Given the description of an element on the screen output the (x, y) to click on. 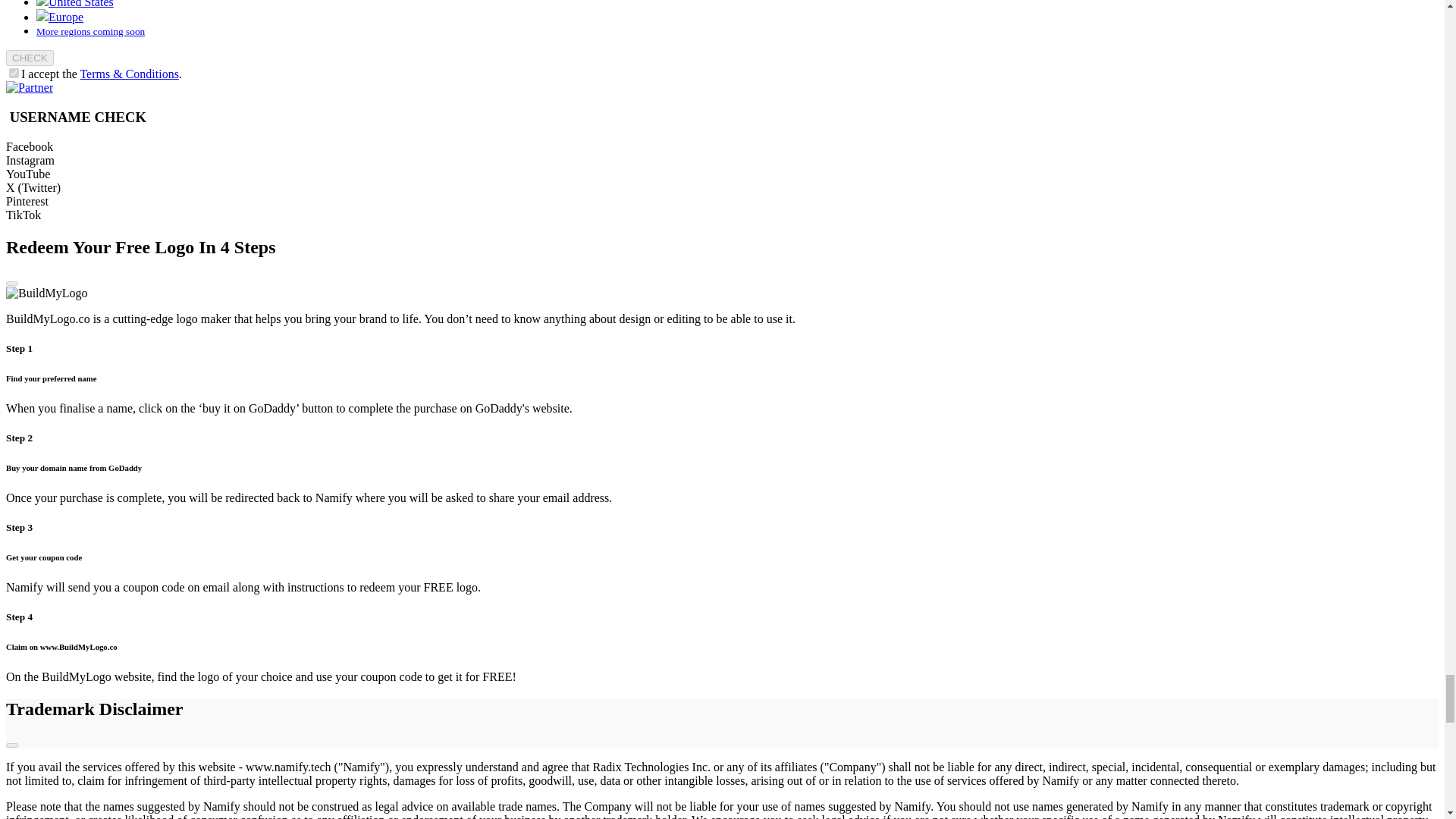
checked (13, 72)
